Given the description of an element on the screen output the (x, y) to click on. 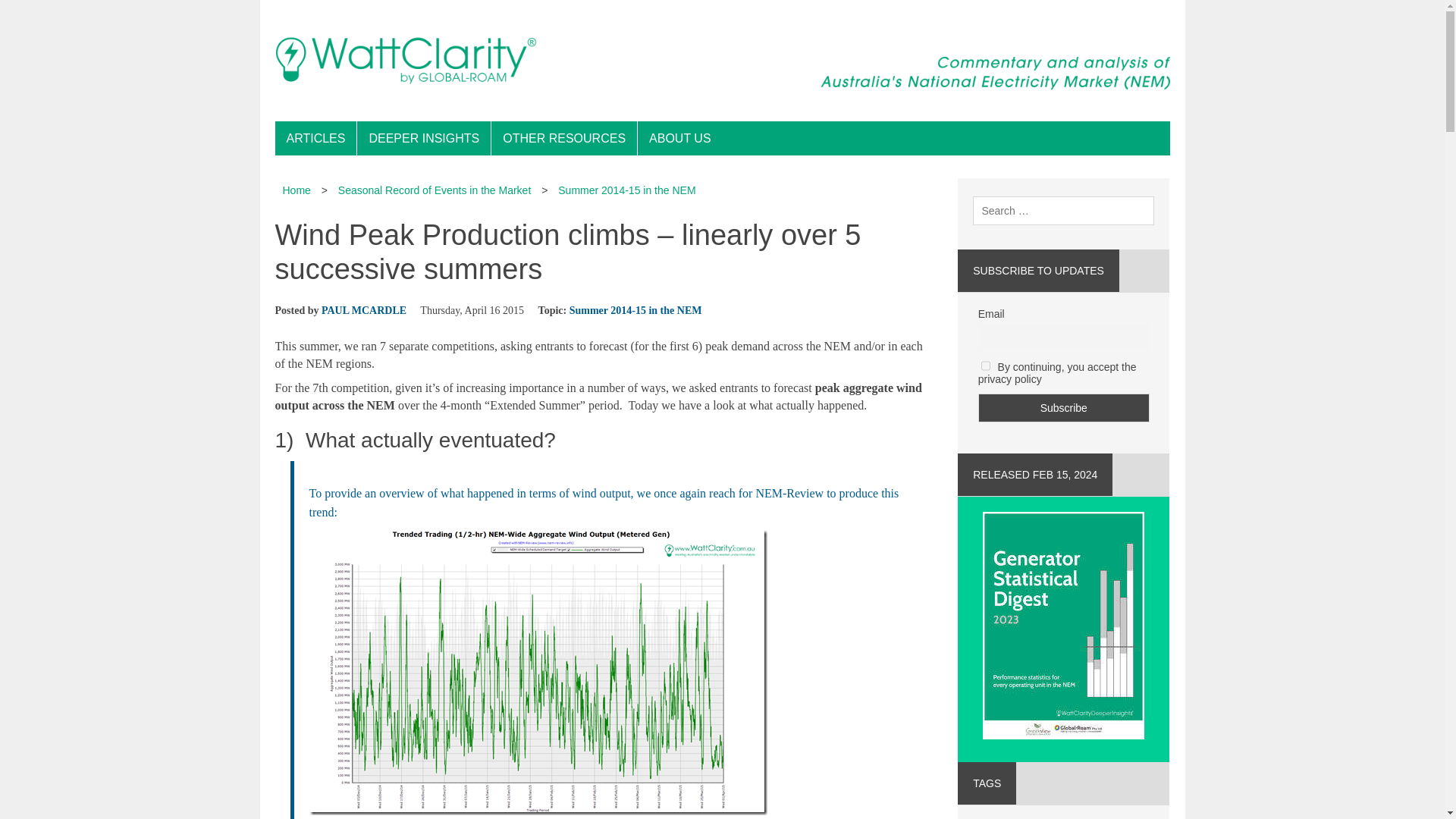
PAUL MCARDLE (363, 310)
Summer 2014-15 in the NEM (635, 310)
Trended half-hourly aggregate wind production across the NEM (537, 671)
NEM-Review (789, 492)
DEEPER INSIGHTS (423, 138)
on (985, 366)
Seasonal Record of Events in the Market (434, 190)
ABOUT US (679, 138)
OTHER RESOURCES (564, 138)
WattClarity (722, 60)
Summer 2014-15 in the NEM (626, 190)
ARTICLES (315, 138)
Subscribe (1064, 407)
Home (296, 190)
